Given the description of an element on the screen output the (x, y) to click on. 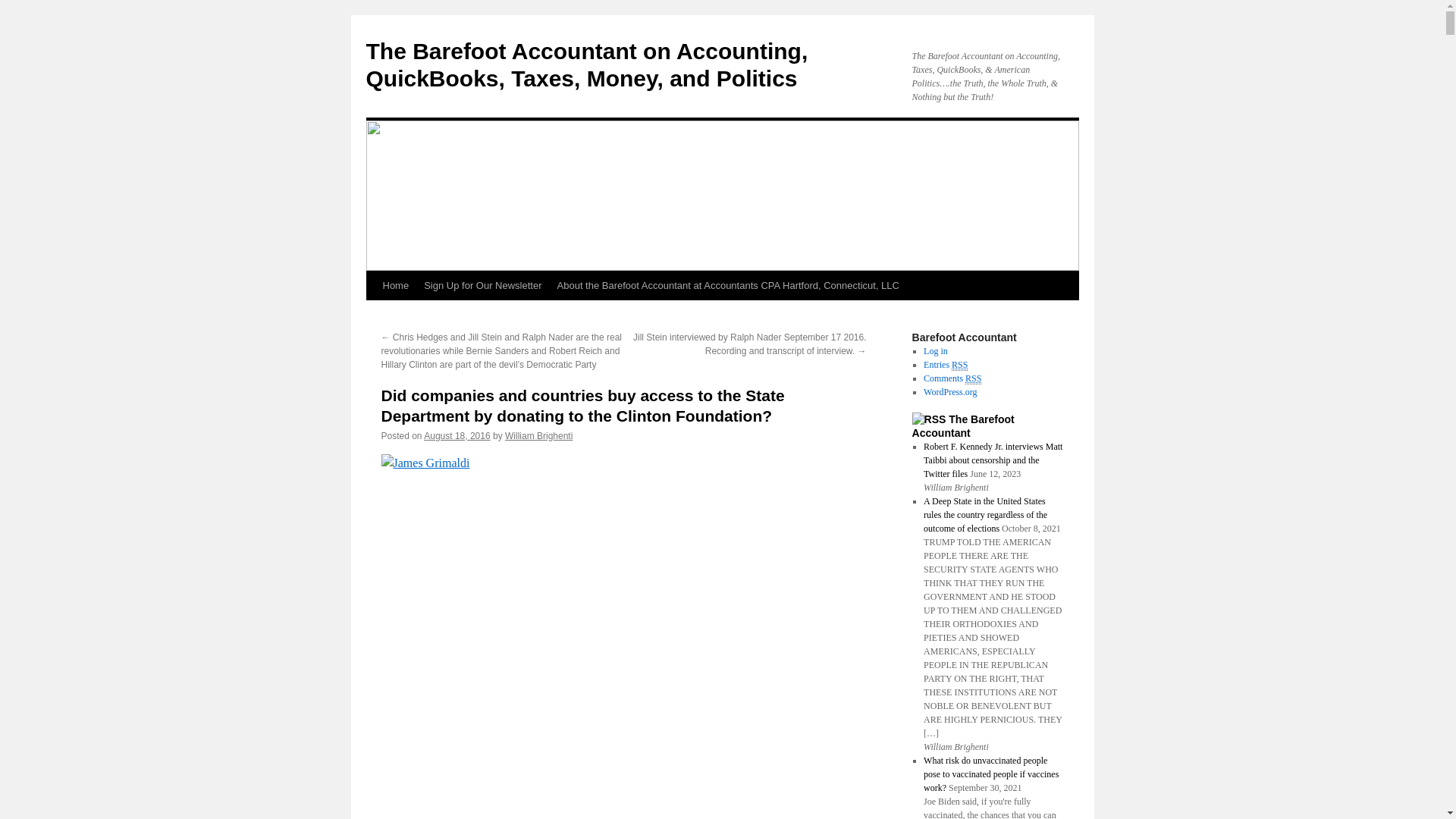
12:21 am (456, 435)
William Brighenti (538, 435)
Really Simple Syndication (973, 378)
Really Simple Syndication (960, 365)
Sign Up for Our Newsletter (482, 285)
View all posts by William Brighenti (538, 435)
August 18, 2016 (456, 435)
Home (395, 285)
